Given the description of an element on the screen output the (x, y) to click on. 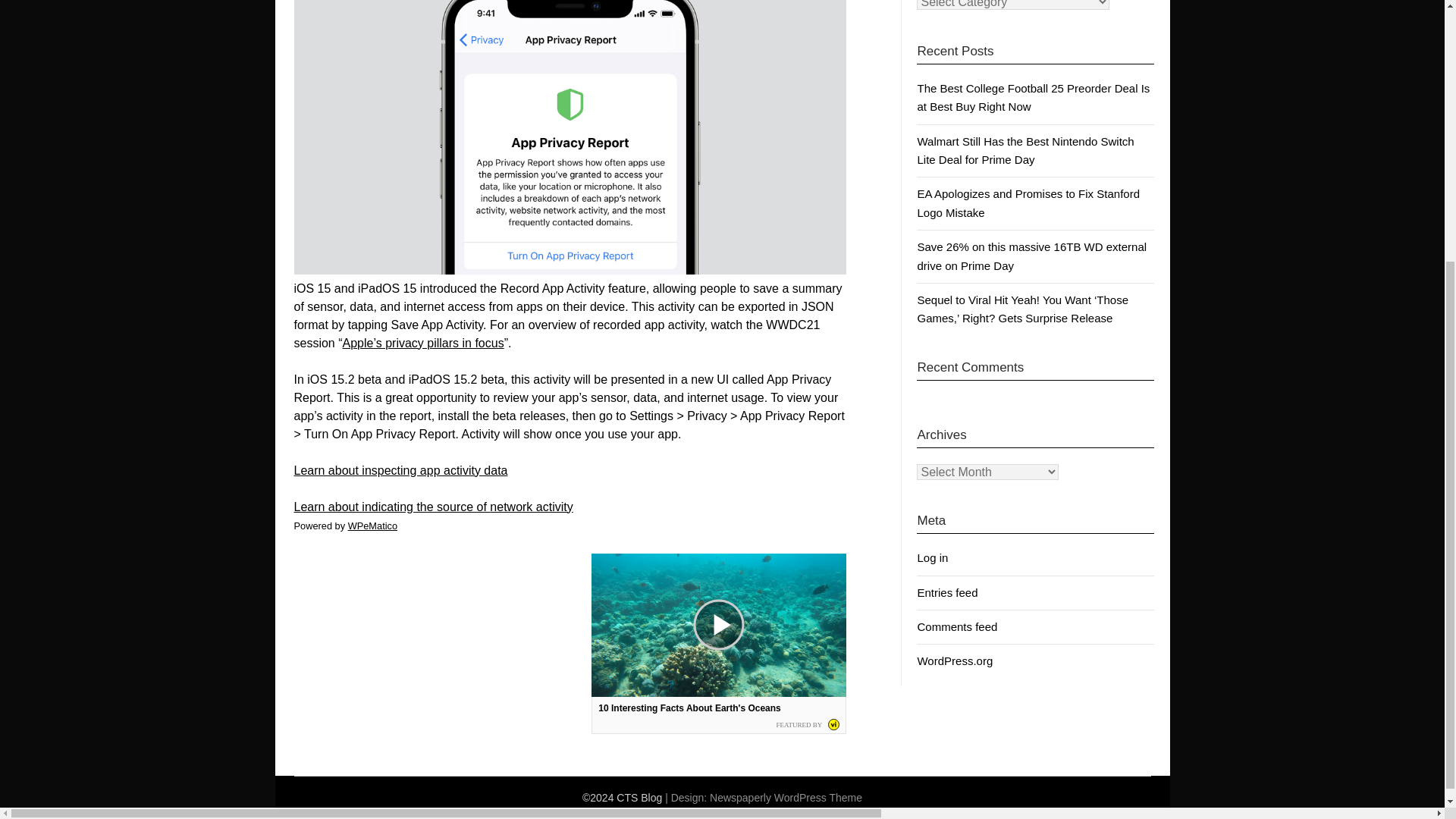
EA Apologizes and Promises to Fix Stanford Logo Mistake (1028, 202)
Log in (932, 557)
WordPress.org (954, 660)
WPeMatico (372, 525)
Learn about inspecting app activity data (401, 470)
Newspaperly WordPress Theme (785, 797)
Learn about indicating the source of network activity (433, 506)
Entries feed (946, 592)
Comments feed (957, 626)
